Given the description of an element on the screen output the (x, y) to click on. 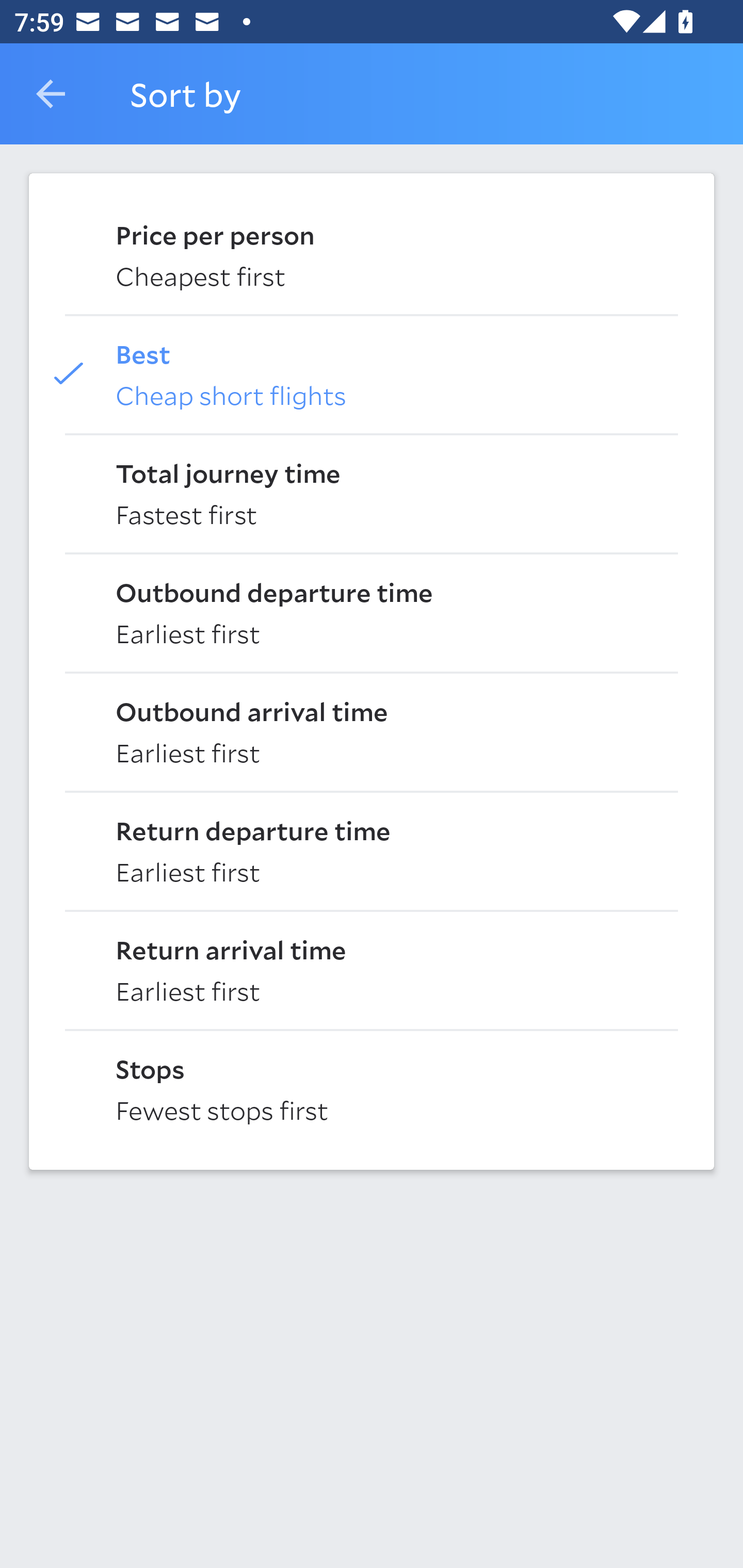
Navigate up (50, 93)
Price per person Cheapest first (371, 253)
Best Cheap short flights (371, 372)
Total journey time Fastest first (371, 491)
Outbound departure time Earliest first (371, 611)
Outbound arrival time Earliest first (371, 730)
Return departure time Earliest first (371, 849)
Return arrival time Earliest first (371, 968)
Stops Fewest stops first (371, 1087)
